Given the description of an element on the screen output the (x, y) to click on. 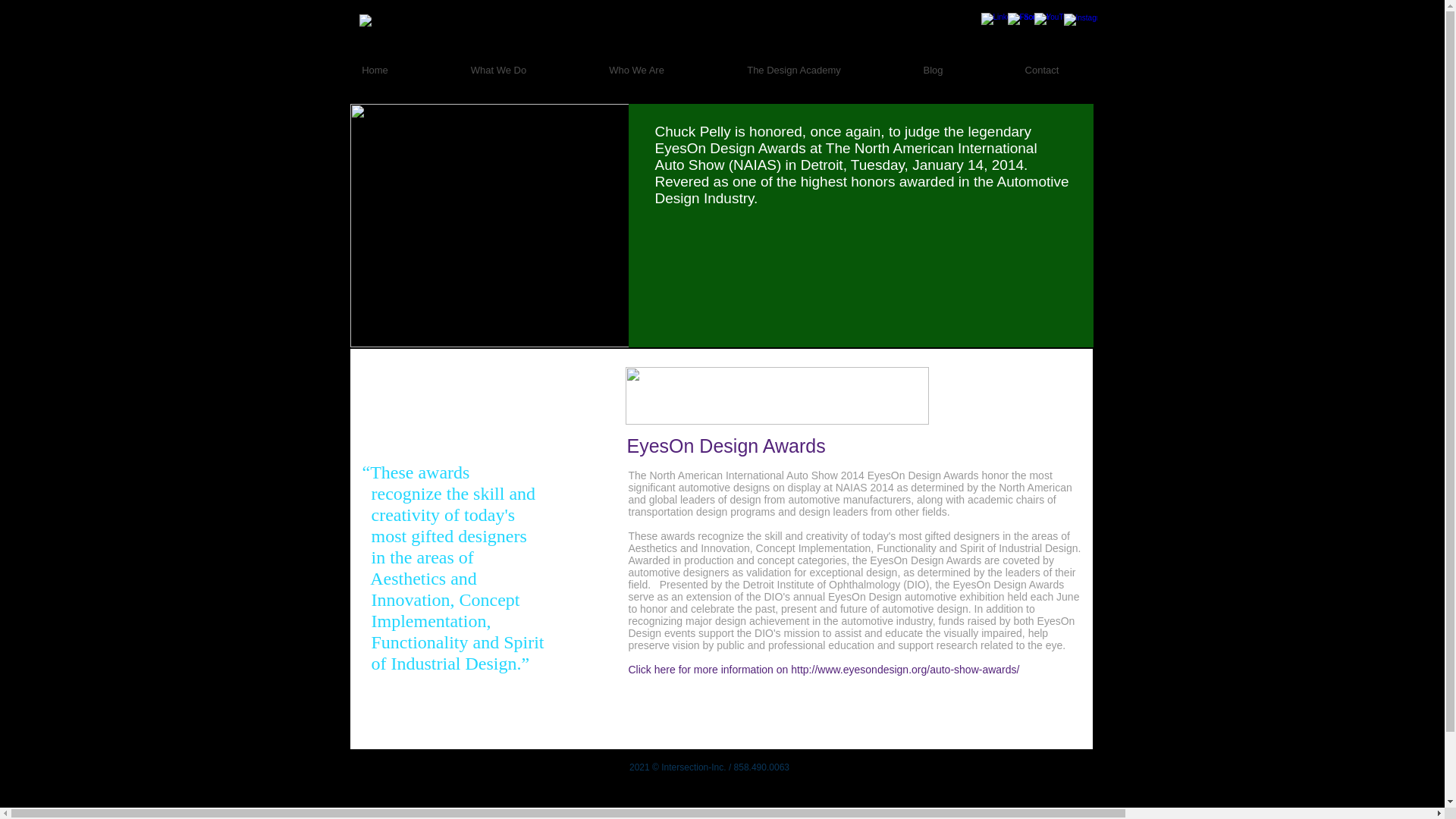
Home (374, 69)
What We Do (498, 69)
